Given the description of an element on the screen output the (x, y) to click on. 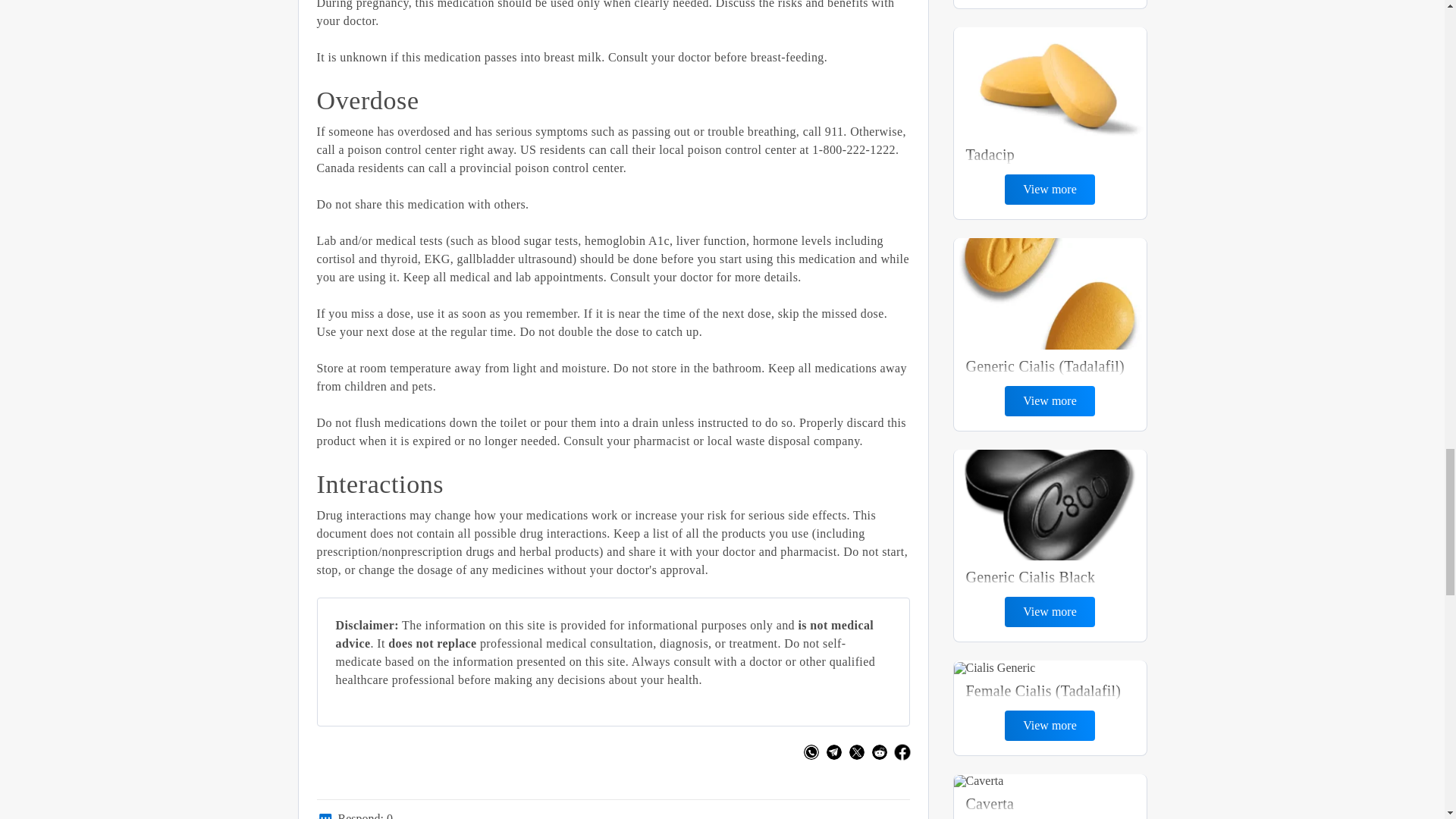
Share on WhatsApp (810, 752)
Share on Facebook (899, 749)
Share on Reddit (879, 752)
Share on Telegram (834, 752)
Share on Twitter (856, 752)
